Given the description of an element on the screen output the (x, y) to click on. 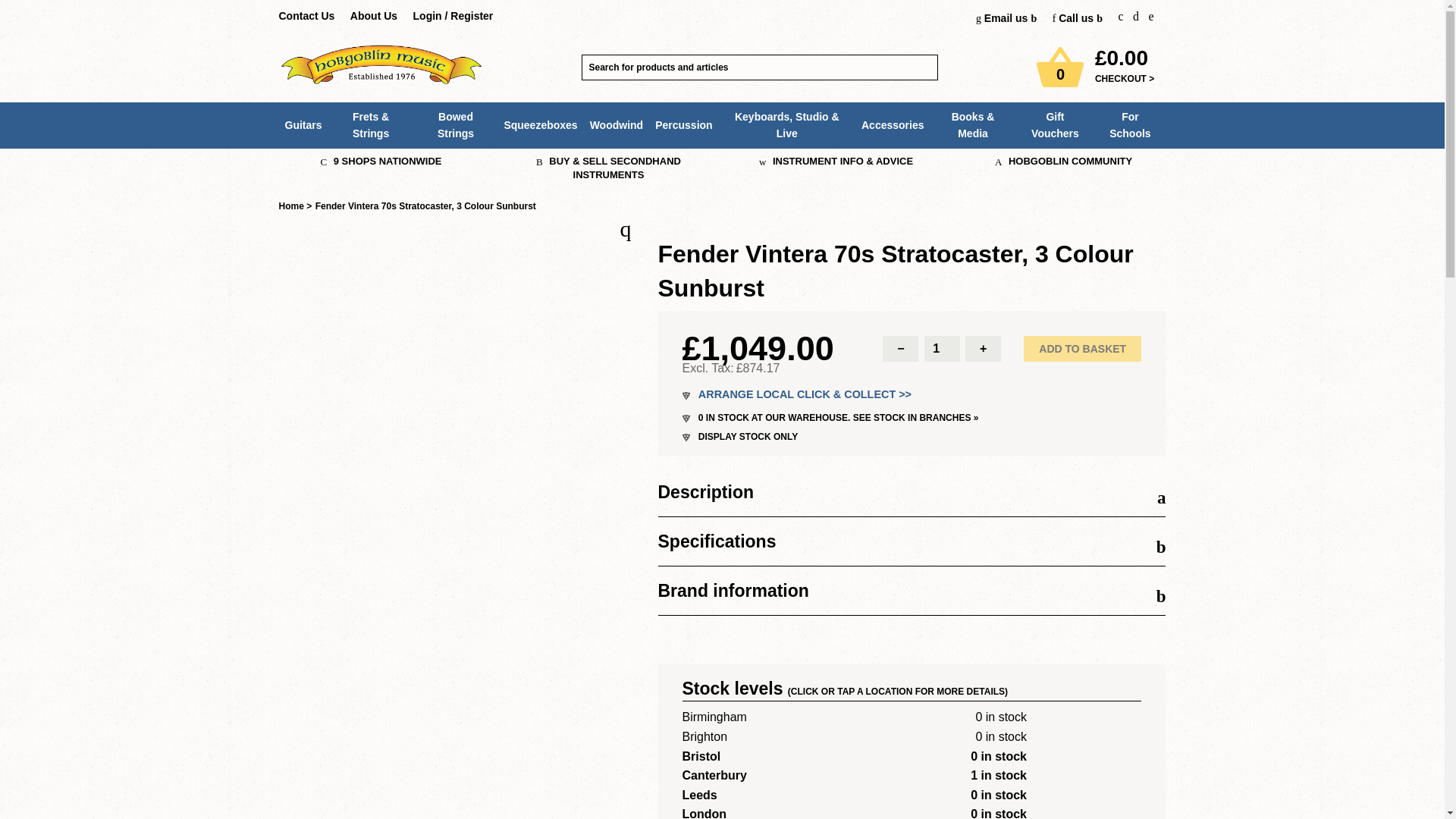
1 (941, 348)
Go to Home Page (291, 205)
Hobgoblin Music (381, 65)
Qty (941, 348)
Add to Basket (1082, 348)
